Given the description of an element on the screen output the (x, y) to click on. 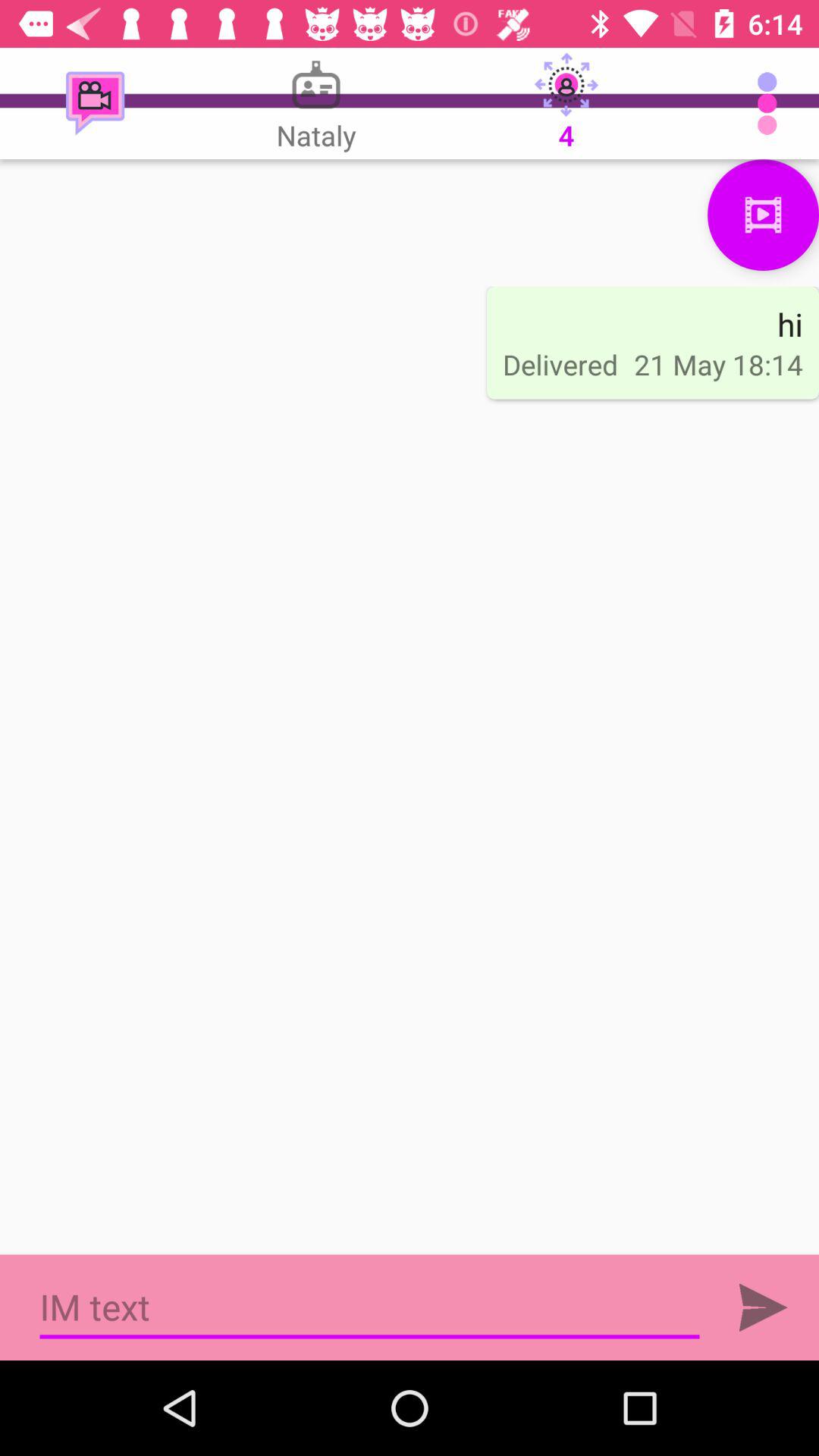
enter comment (763, 1307)
